Given the description of an element on the screen output the (x, y) to click on. 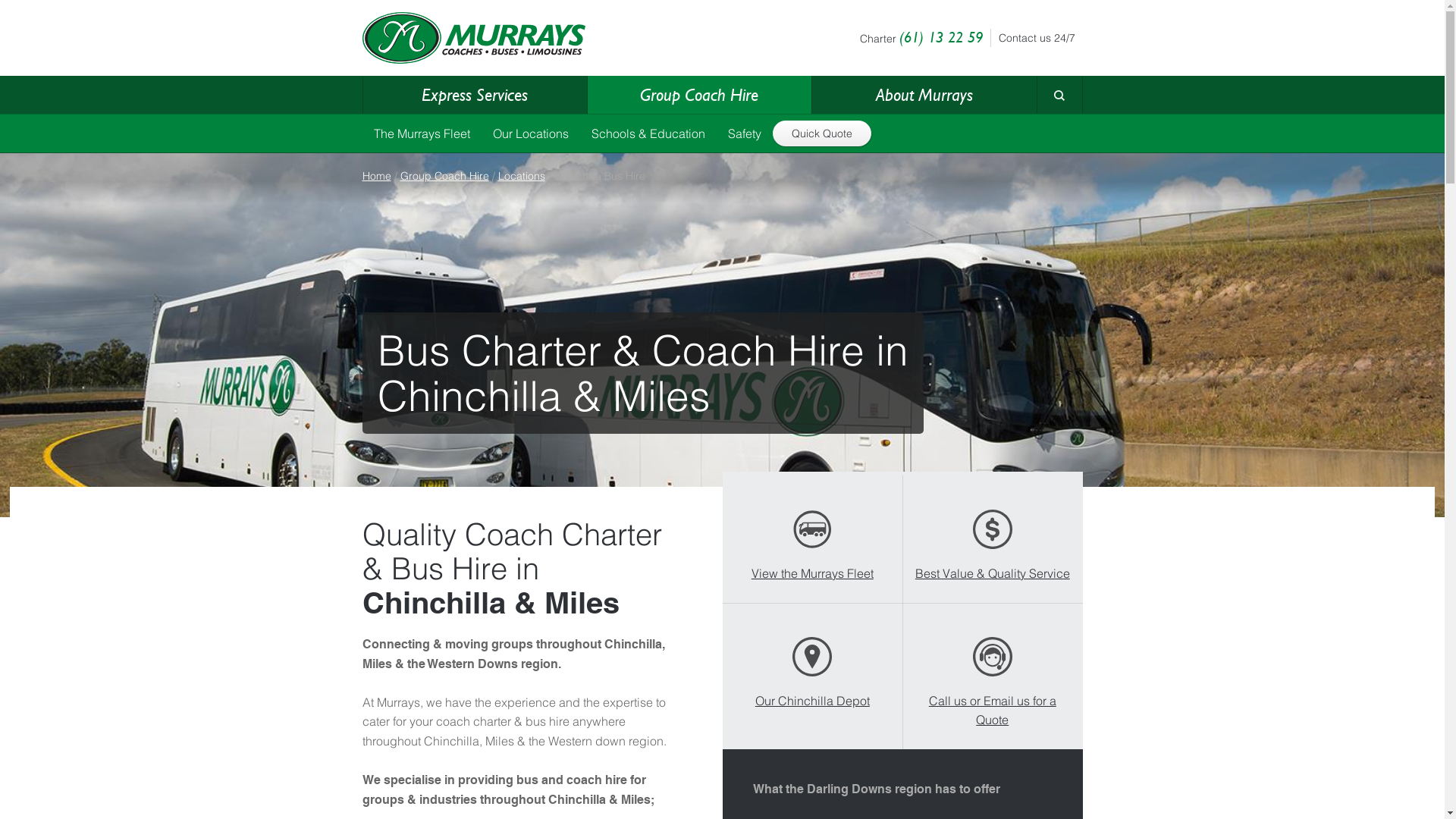
The Murrays Fleet Element type: text (421, 133)
(61) 13 22 59 Element type: text (940, 37)
About Murrays Element type: text (923, 94)
Contact us 24/7 Element type: text (1032, 37)
View the Murrays Fleet Element type: text (811, 538)
Schools & Education Element type: text (647, 133)
Locations Element type: text (520, 175)
Home Element type: text (376, 175)
Our Chinchilla Depot Element type: text (811, 666)
Quick Quote Element type: text (820, 133)
Group Coach Hire Element type: text (444, 175)
Our Locations Element type: text (529, 133)
Safety Element type: text (743, 133)
Search Element type: text (1037, 123)
Call us or Email us for a Quote Element type: text (992, 675)
Express Services Element type: text (474, 94)
Group Coach Hire Element type: text (699, 94)
Best Value & Quality Service Element type: text (992, 538)
